Given the description of an element on the screen output the (x, y) to click on. 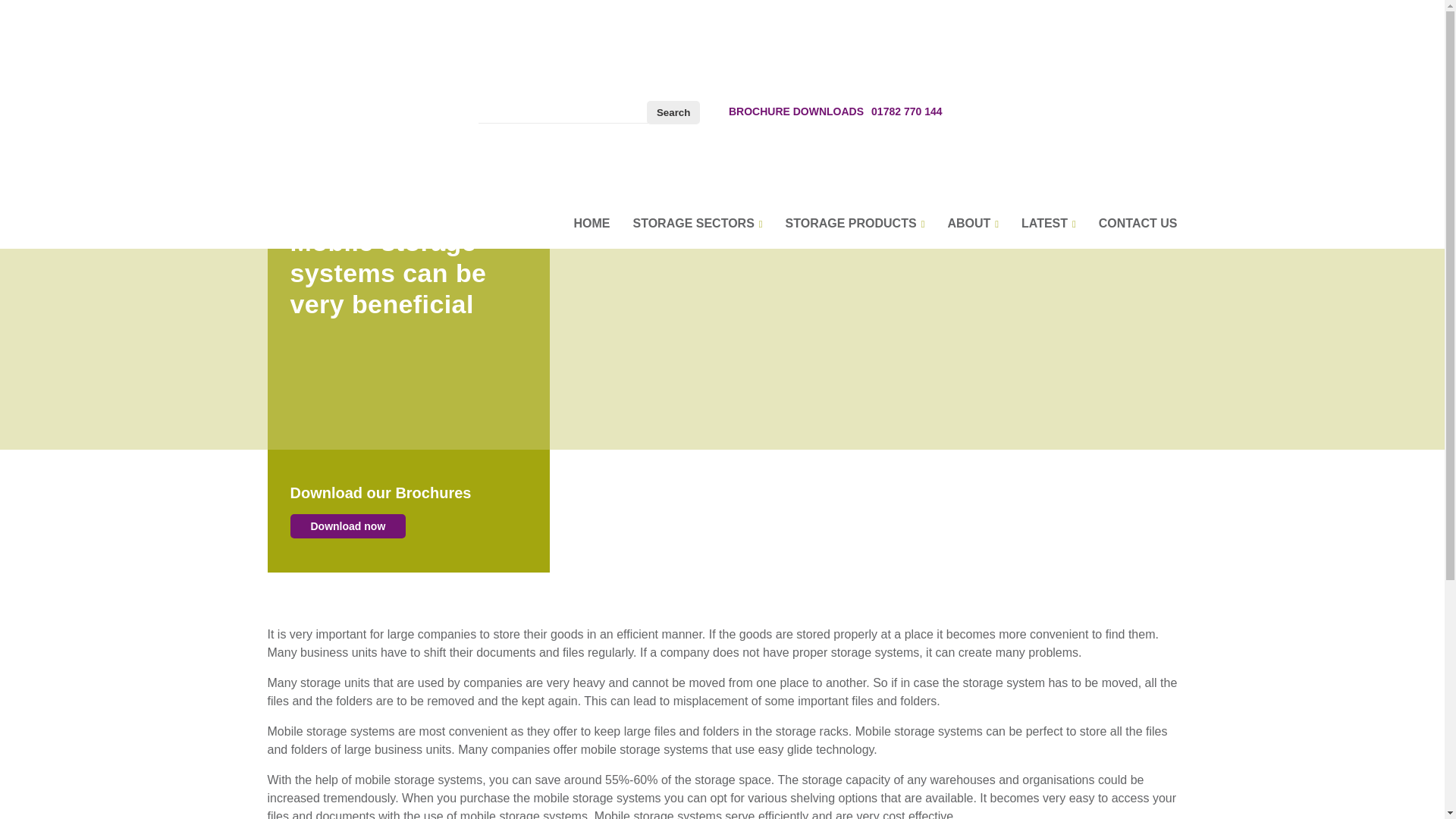
Download Now (347, 526)
HOME (591, 223)
ABOUT (972, 223)
STORAGE PRODUCTS (855, 223)
STORAGE SECTORS (696, 223)
Search (673, 112)
